Given the description of an element on the screen output the (x, y) to click on. 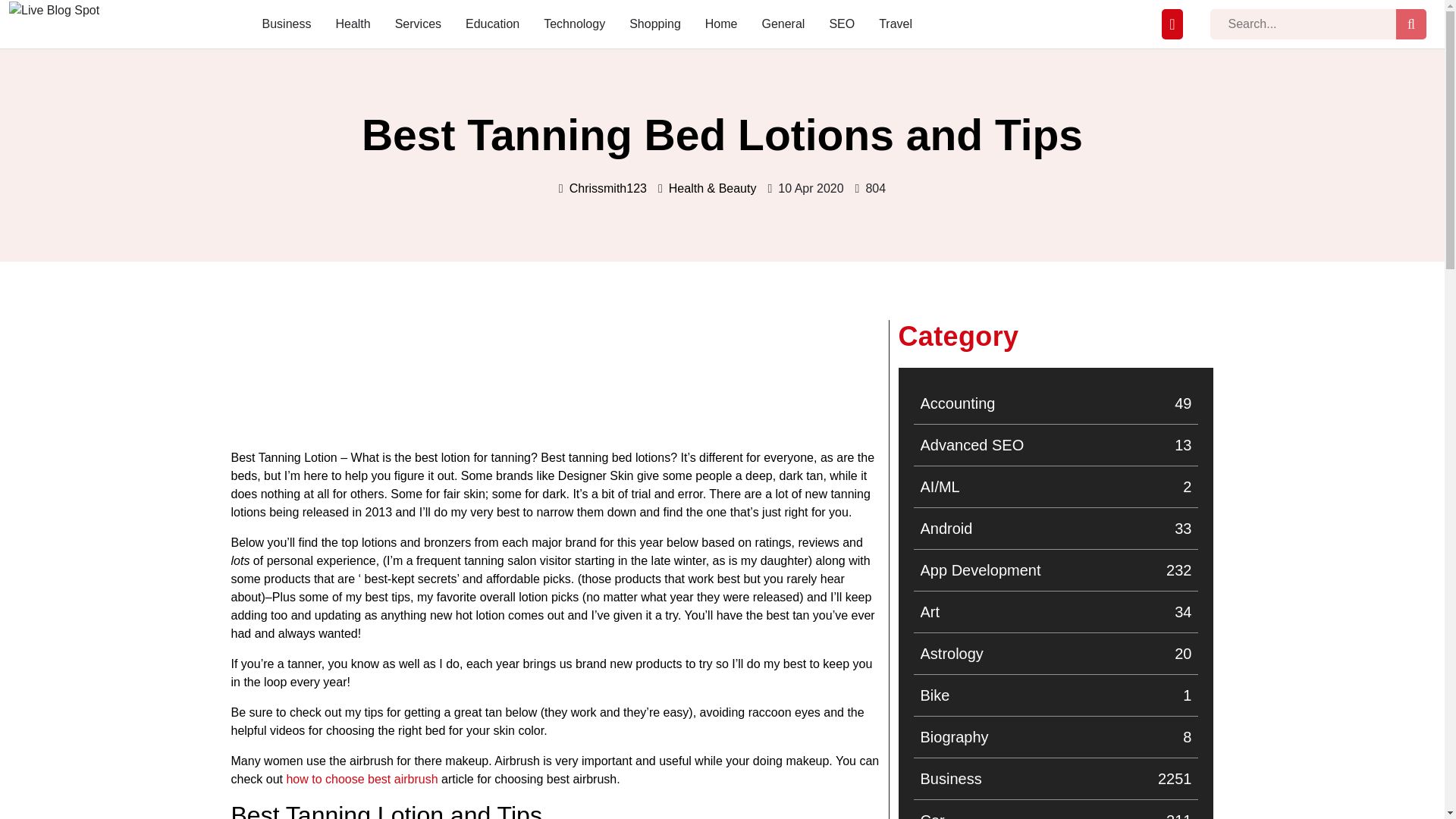
Education (492, 24)
Best Tanning Bed Lotions and Tips (329, 330)
Chrissmith123 (1056, 527)
Live Blog Spot (607, 188)
Technology (62, 30)
Live Blog Spot (574, 24)
How to Choose Best Airbrush (1056, 736)
Services (53, 30)
